Given the description of an element on the screen output the (x, y) to click on. 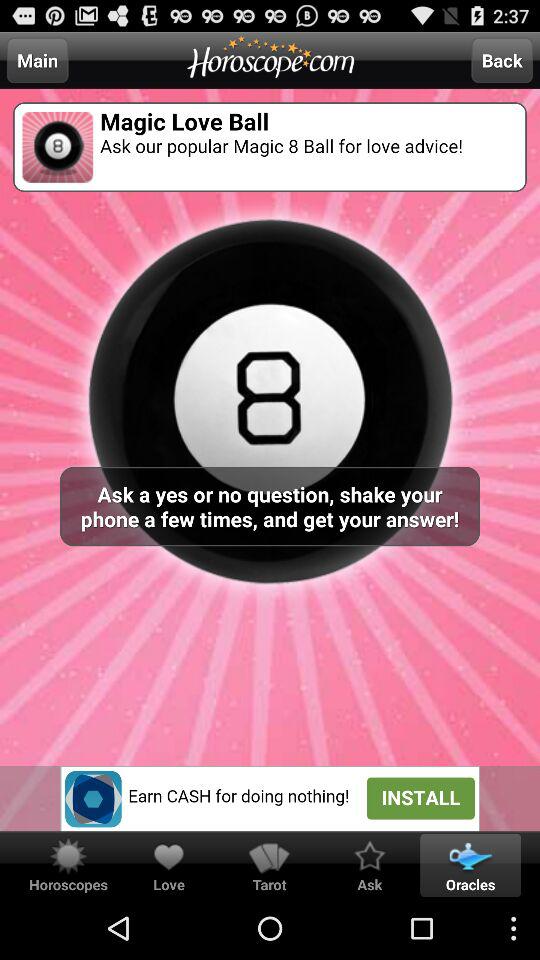
hit install (270, 798)
